Given the description of an element on the screen output the (x, y) to click on. 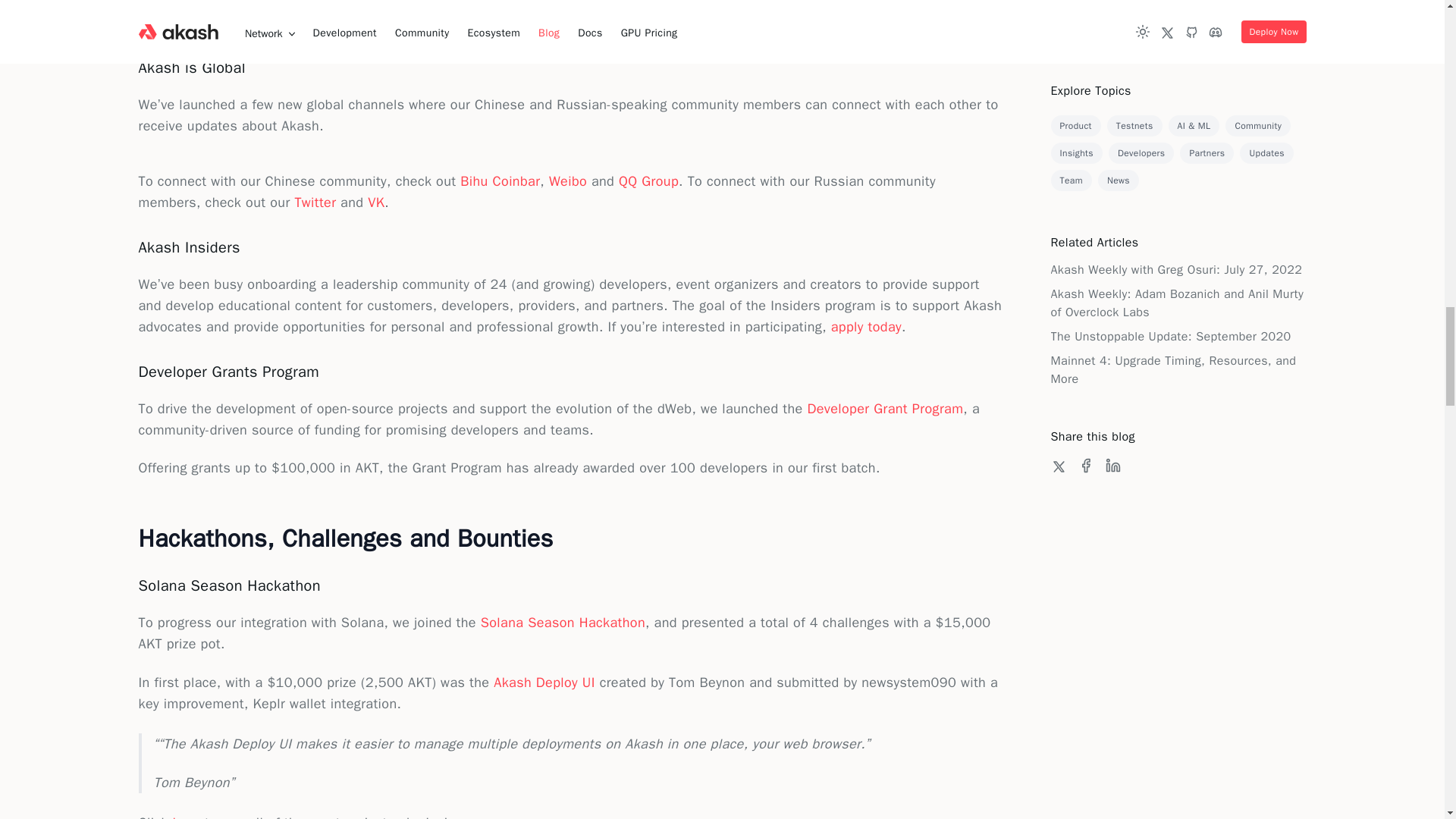
Developer Grant Program (884, 408)
here (789, 22)
Solana Season Hackathon (562, 622)
apply today (866, 326)
here (186, 816)
Akash Deploy UI (544, 682)
Weibo (567, 180)
VK (376, 202)
QQ Group (648, 180)
Twitter (315, 202)
